Given the description of an element on the screen output the (x, y) to click on. 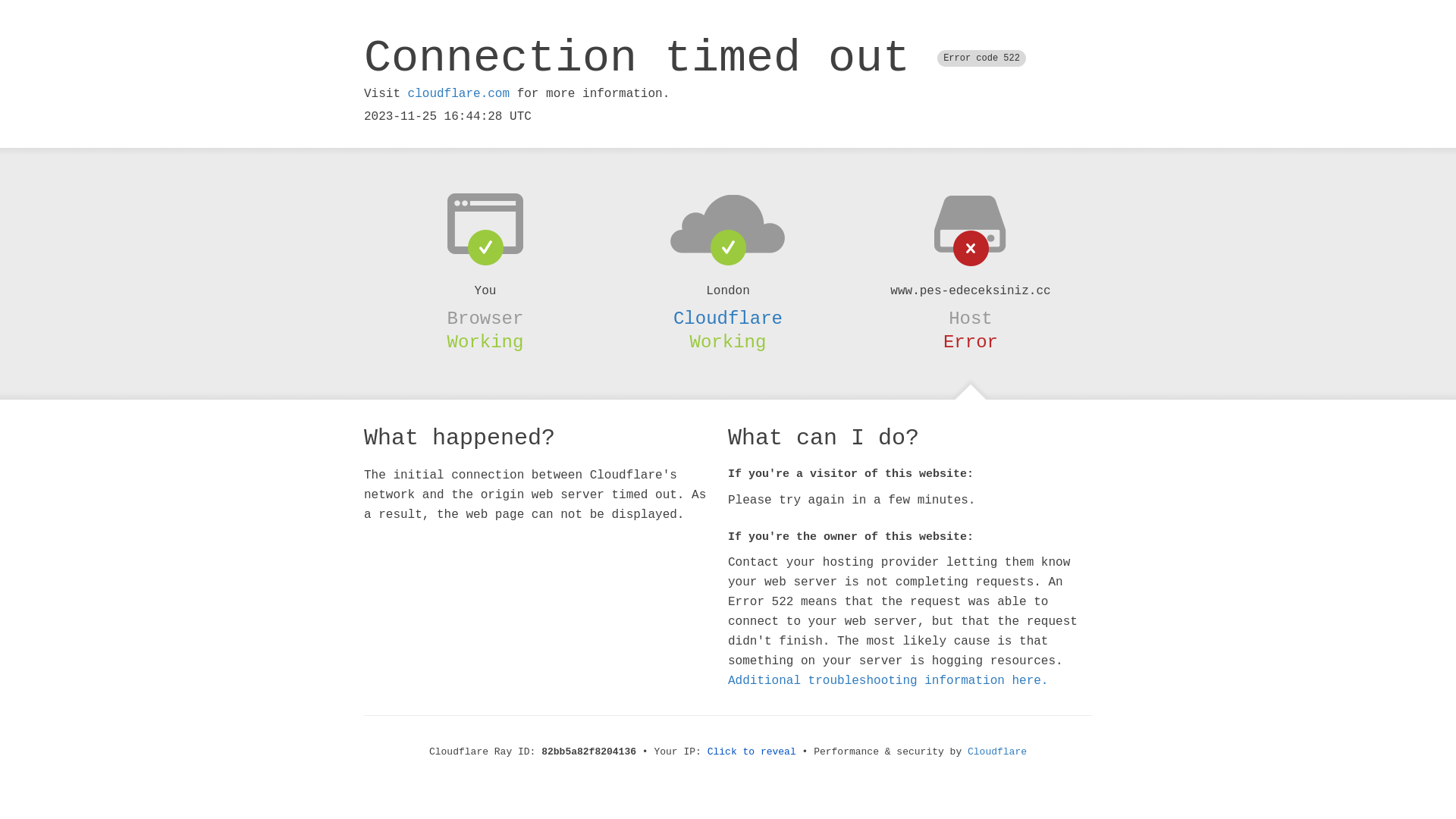
cloudflare.com Element type: text (458, 93)
Cloudflare Element type: text (996, 751)
Click to reveal Element type: text (751, 751)
Cloudflare Element type: text (727, 318)
Additional troubleshooting information here. Element type: text (888, 680)
